Given the description of an element on the screen output the (x, y) to click on. 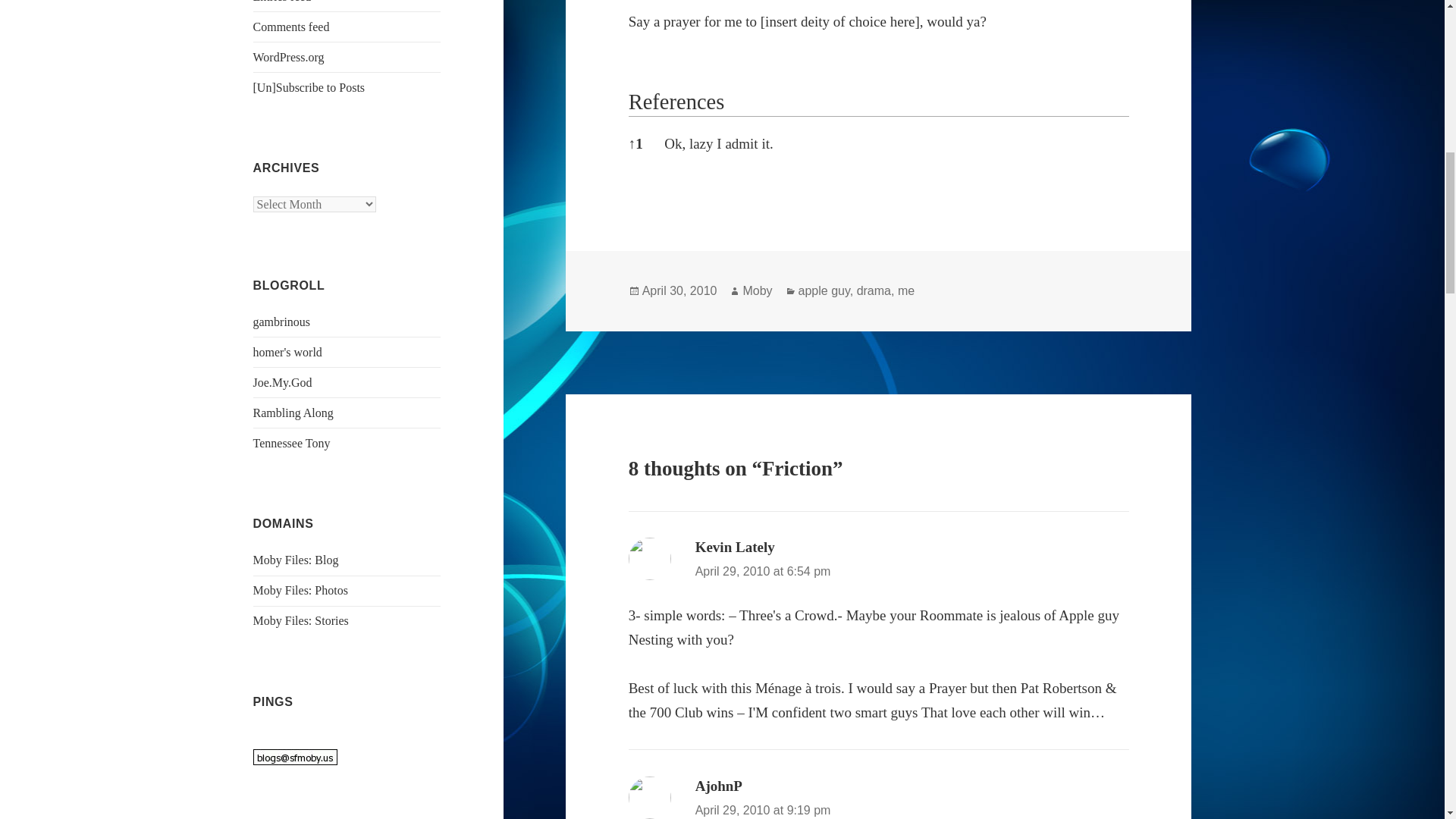
Life thru photos and social media (300, 590)
homer's world (287, 351)
Moby Files: Blog (296, 559)
WordPress.org (288, 56)
Formerly known as Large Tony (291, 442)
drama (874, 291)
AjohnP (718, 785)
me (906, 291)
Tennessee Tony (291, 442)
Moby Files: Photos (300, 590)
Joe.My.God (283, 382)
gambrinous (282, 321)
April 29, 2010 at 6:54 pm (763, 571)
Rambling Along (293, 412)
apple guy (823, 291)
